Given the description of an element on the screen output the (x, y) to click on. 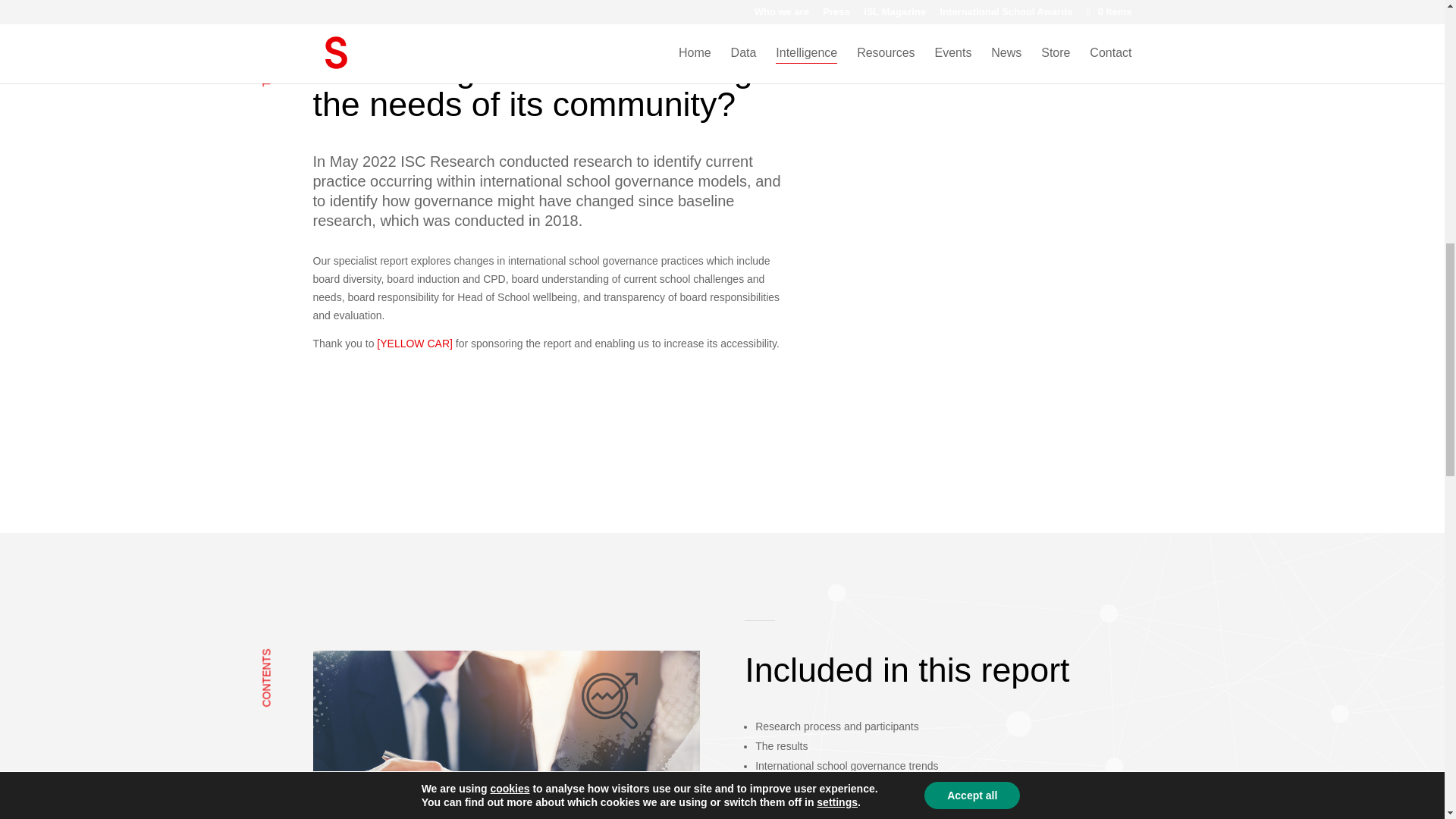
international school governance (505, 734)
